Given the description of an element on the screen output the (x, y) to click on. 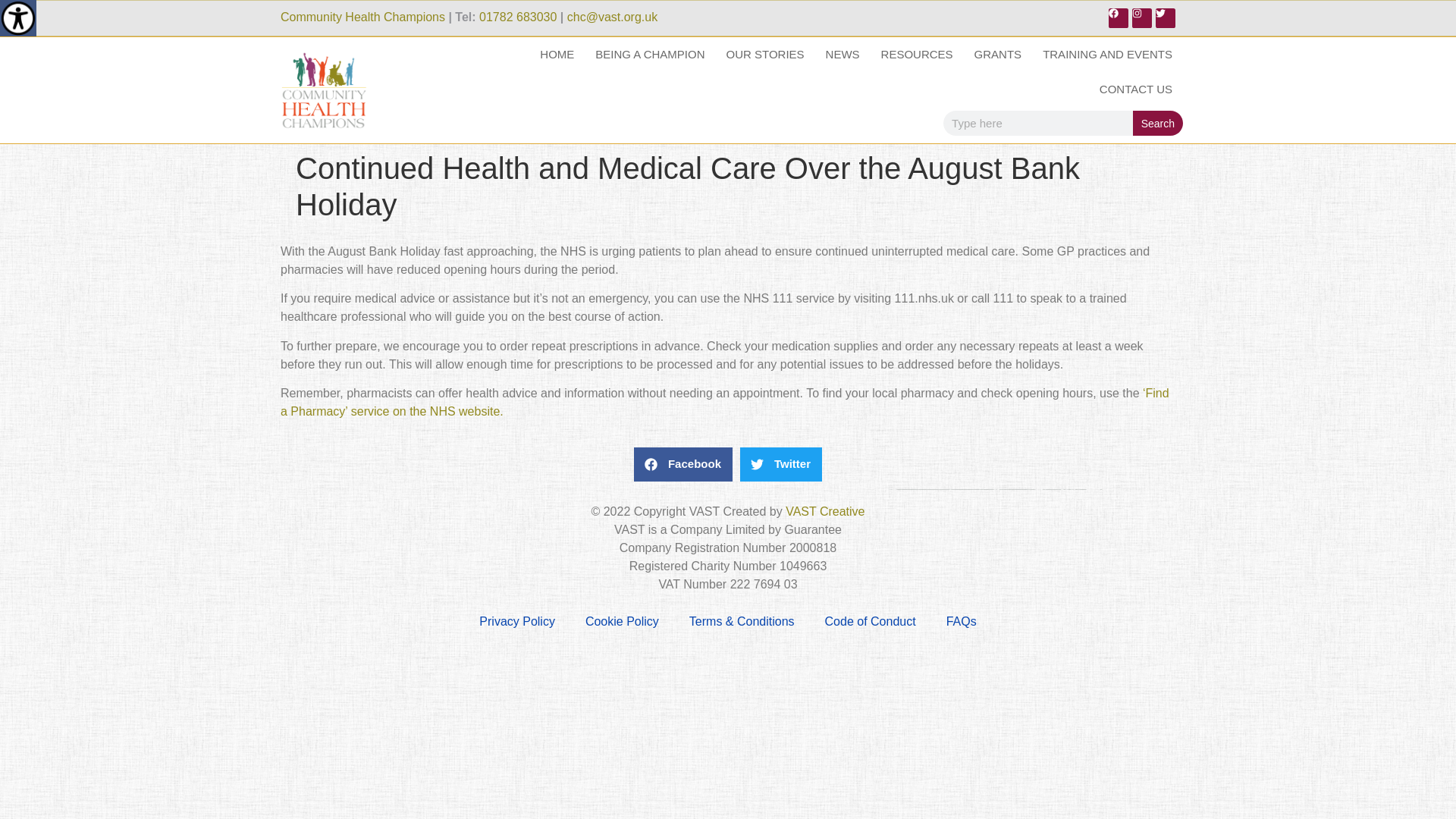
Accessibility Helper sidebar (18, 18)
Community Health Champions (363, 16)
01782 683030 (517, 16)
